Given the description of an element on the screen output the (x, y) to click on. 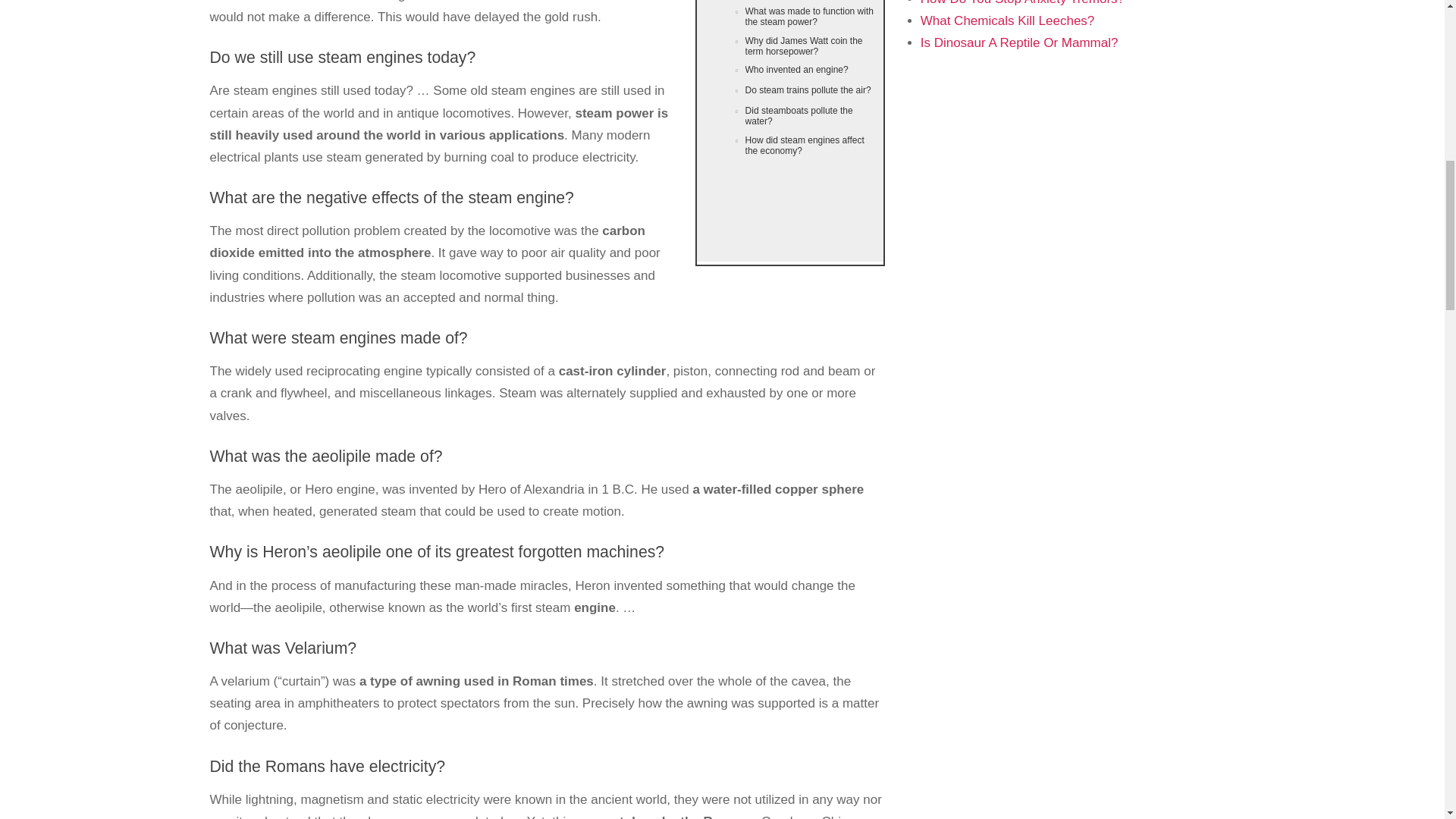
Do steam trains pollute the air? (788, 91)
Who invented an engine? (788, 70)
How does the hero engine work? (788, 1)
Did steamboats pollute the water? (788, 116)
Why did James Watt coin the term horsepower? (788, 46)
What was made to function with the steam power? (788, 16)
How did steam engines affect the economy? (788, 145)
